Given the description of an element on the screen output the (x, y) to click on. 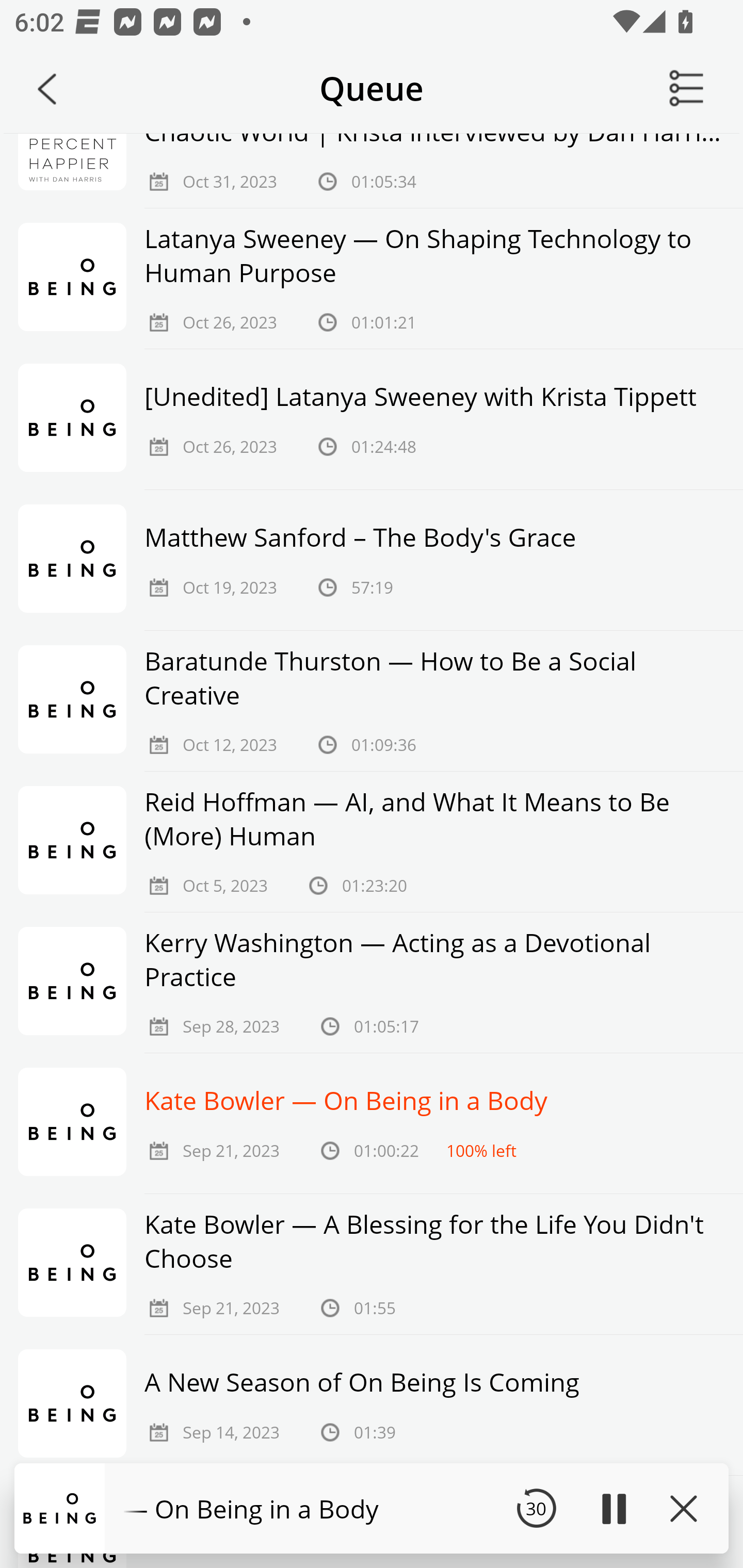
Back (46, 88)
Play (613, 1507)
30 Seek Backward (536, 1508)
